Given the description of an element on the screen output the (x, y) to click on. 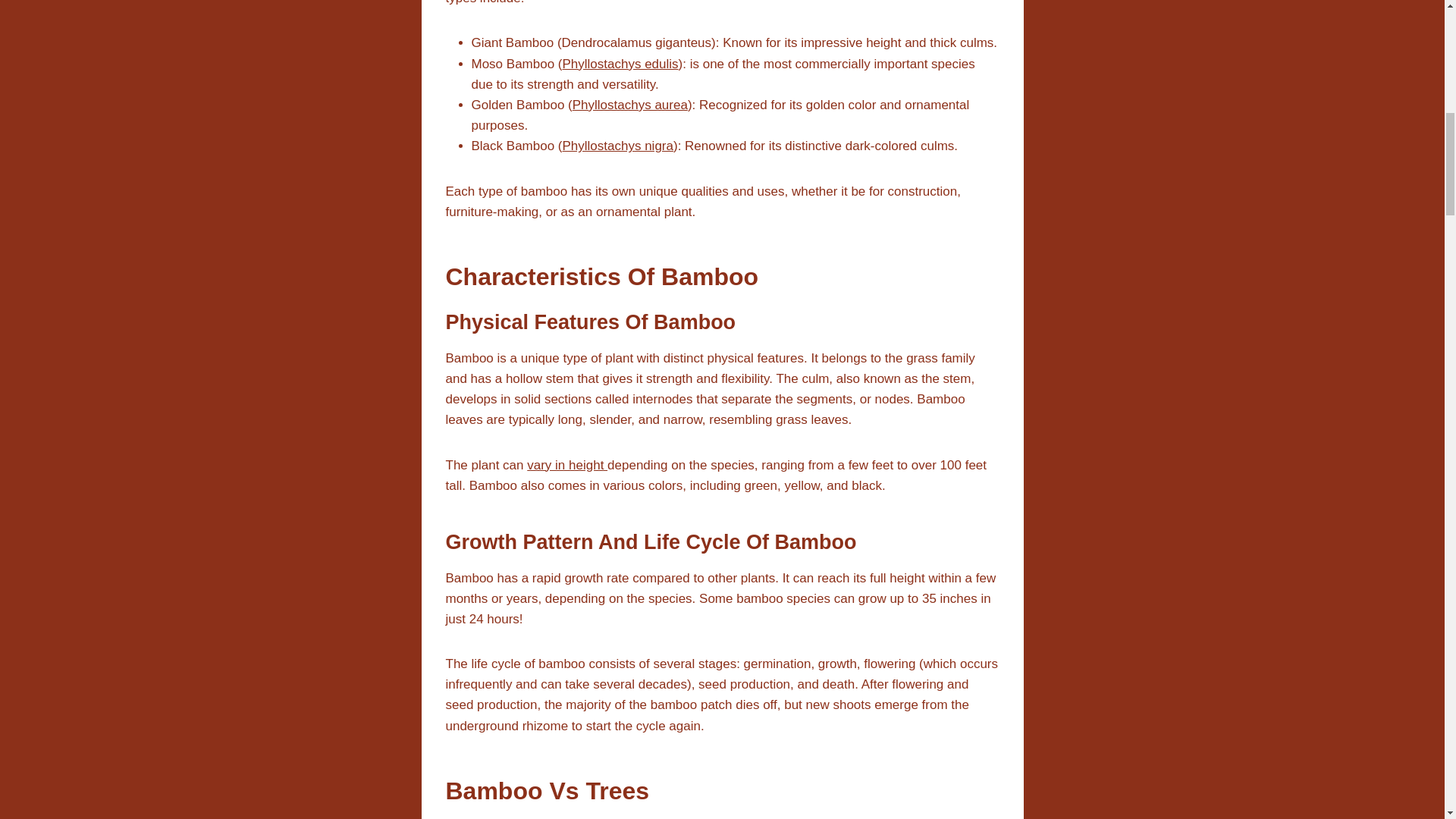
vary in height (567, 464)
Phyllostachys nigra (617, 145)
Phyllostachys aurea (629, 104)
Phyllostachys edulis (620, 63)
